Given the description of an element on the screen output the (x, y) to click on. 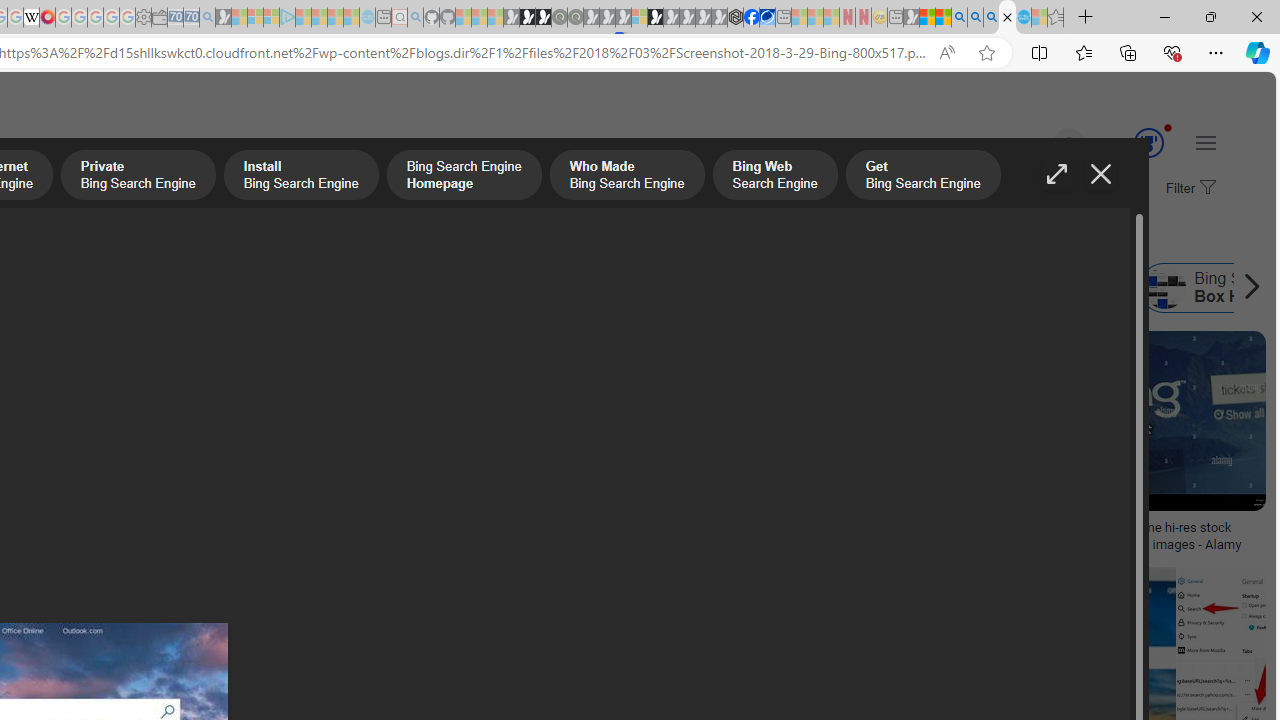
MSN - Sleeping (911, 17)
Bing T-Shirts (132, 400)
Future Focus Report 2024 - Sleeping (575, 17)
Full screen (1055, 173)
Bing Real Estate - Home sales and rental listings - Sleeping (207, 17)
Old Bing (319, 287)
Bing Search Site - Search Images (1007, 17)
Class: item col (1051, 287)
